Given the description of an element on the screen output the (x, y) to click on. 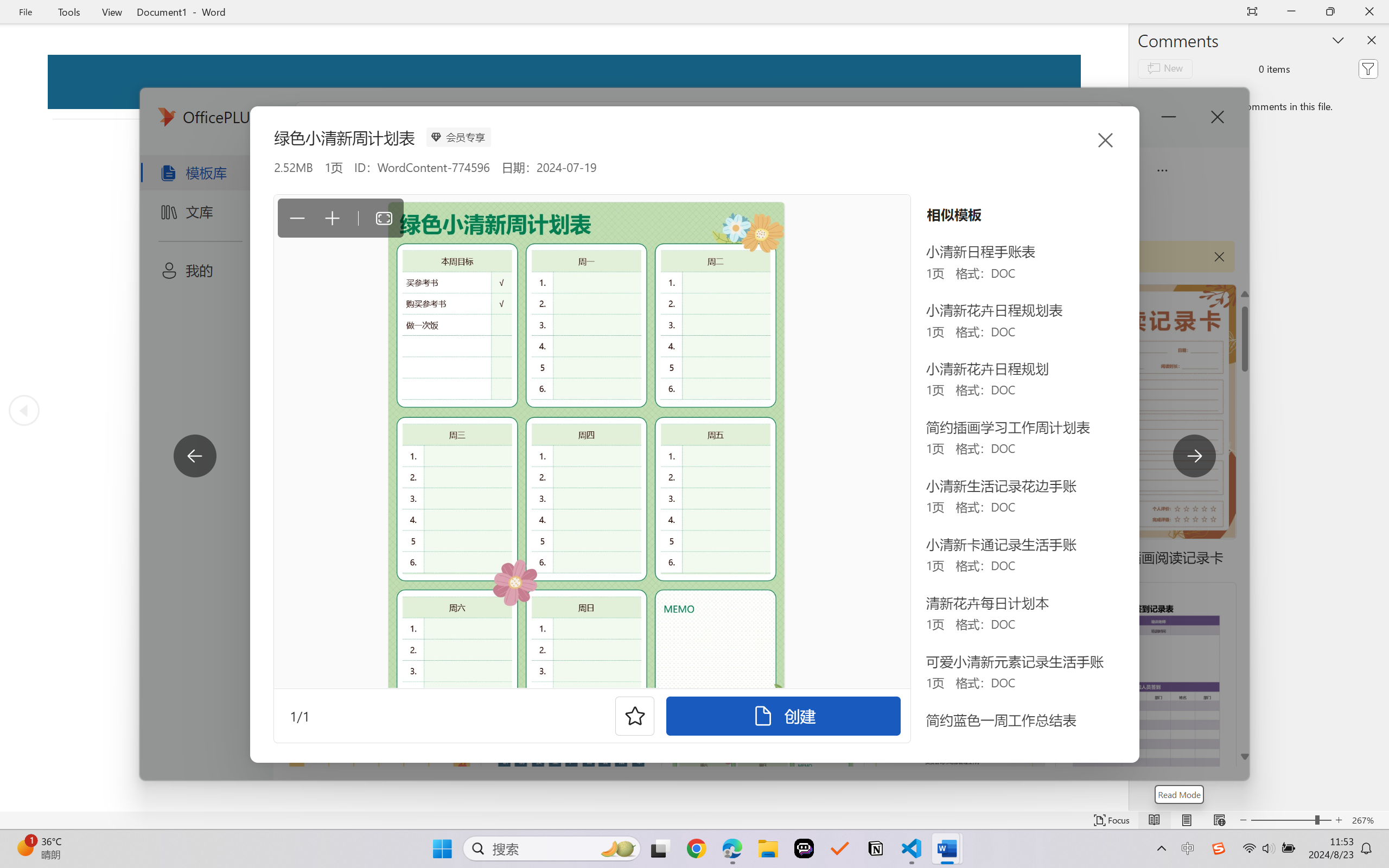
Auto-hide Reading Toolbar (1252, 11)
Decrease Text Size (1243, 819)
Filter (1367, 68)
New comment (1165, 68)
Tools (69, 11)
Increase Text Size (1338, 819)
